Given the description of an element on the screen output the (x, y) to click on. 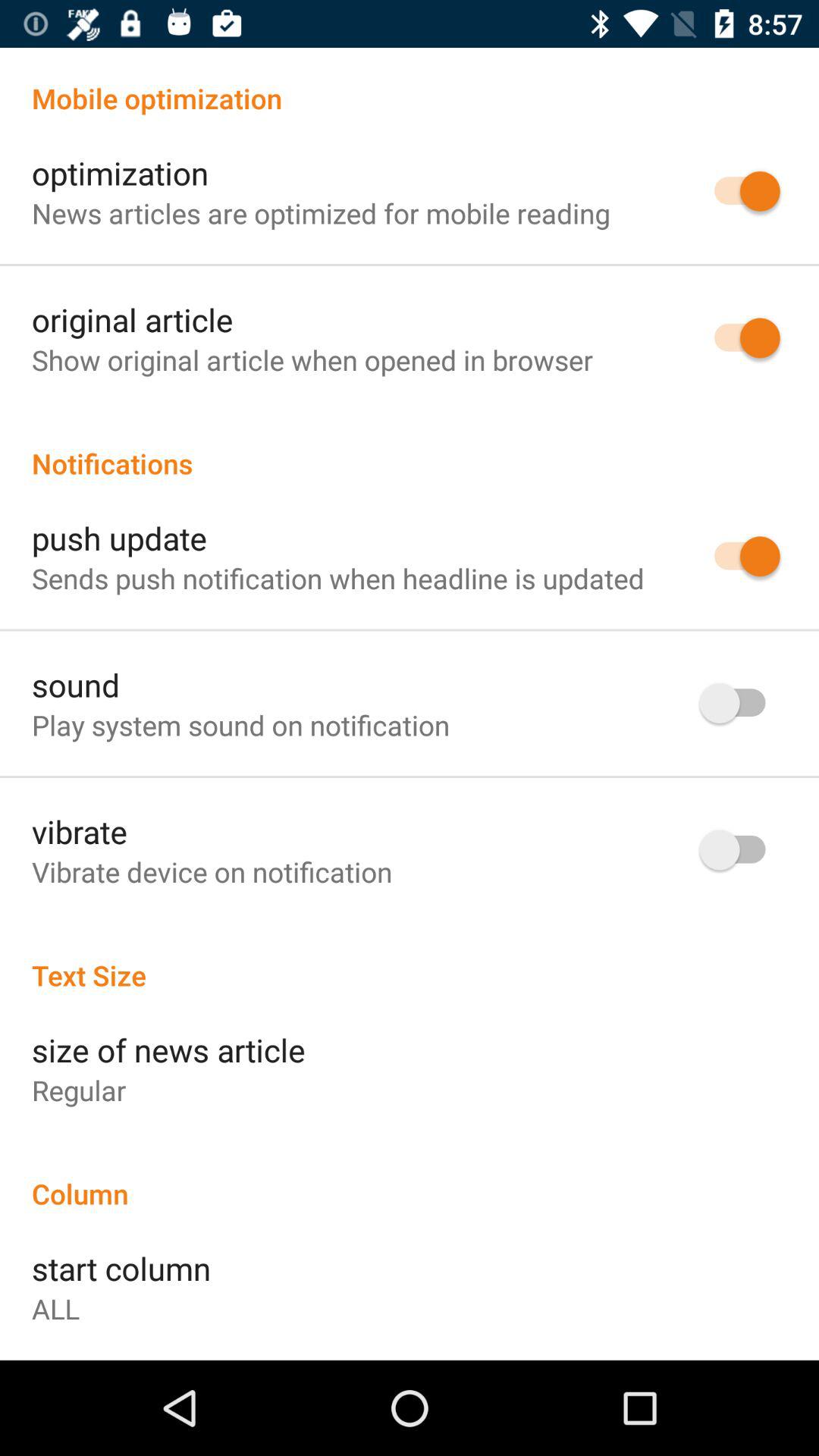
select the all item (55, 1308)
